Given the description of an element on the screen output the (x, y) to click on. 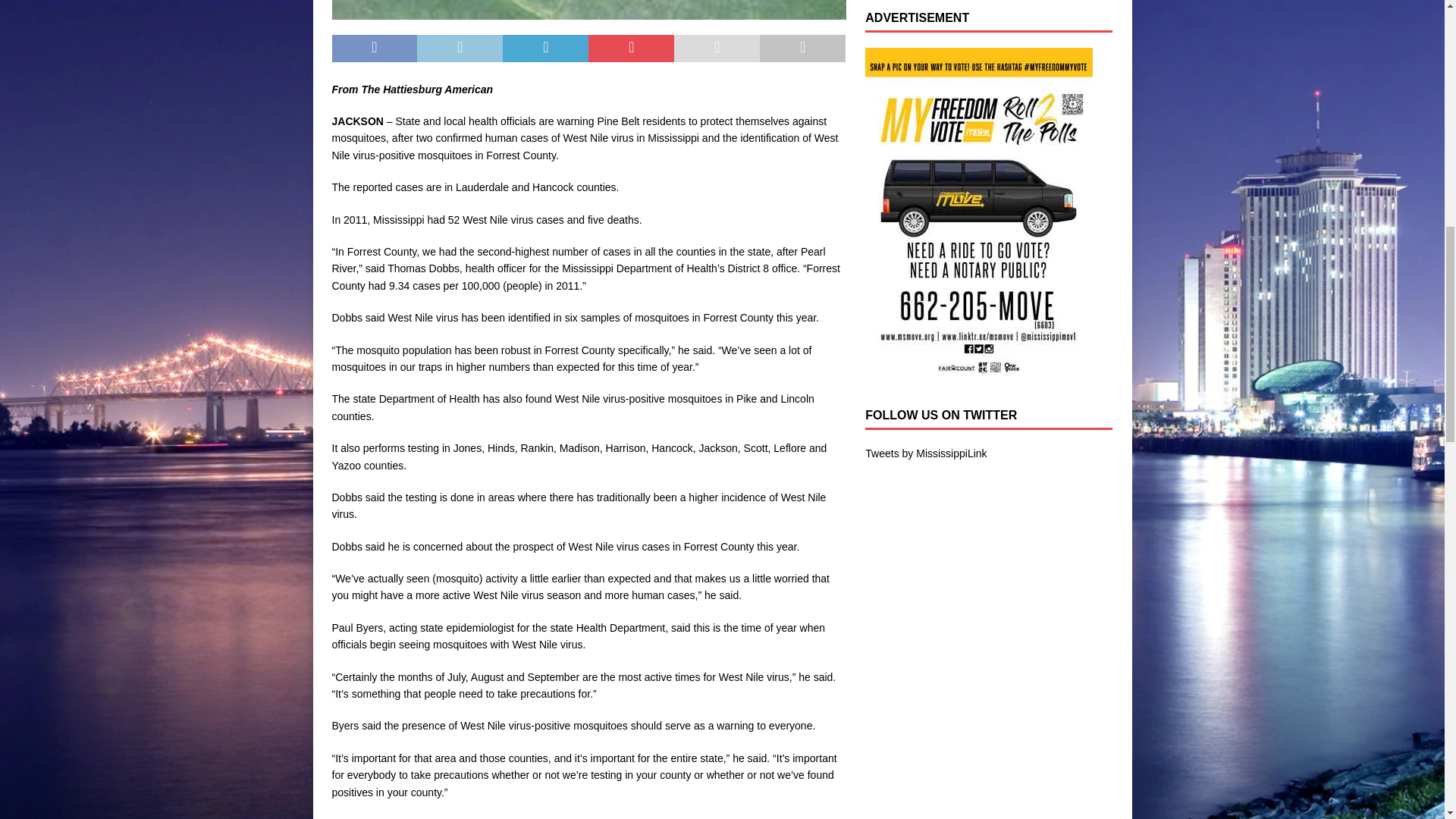
Adult Mosquito (588, 9)
